Given the description of an element on the screen output the (x, y) to click on. 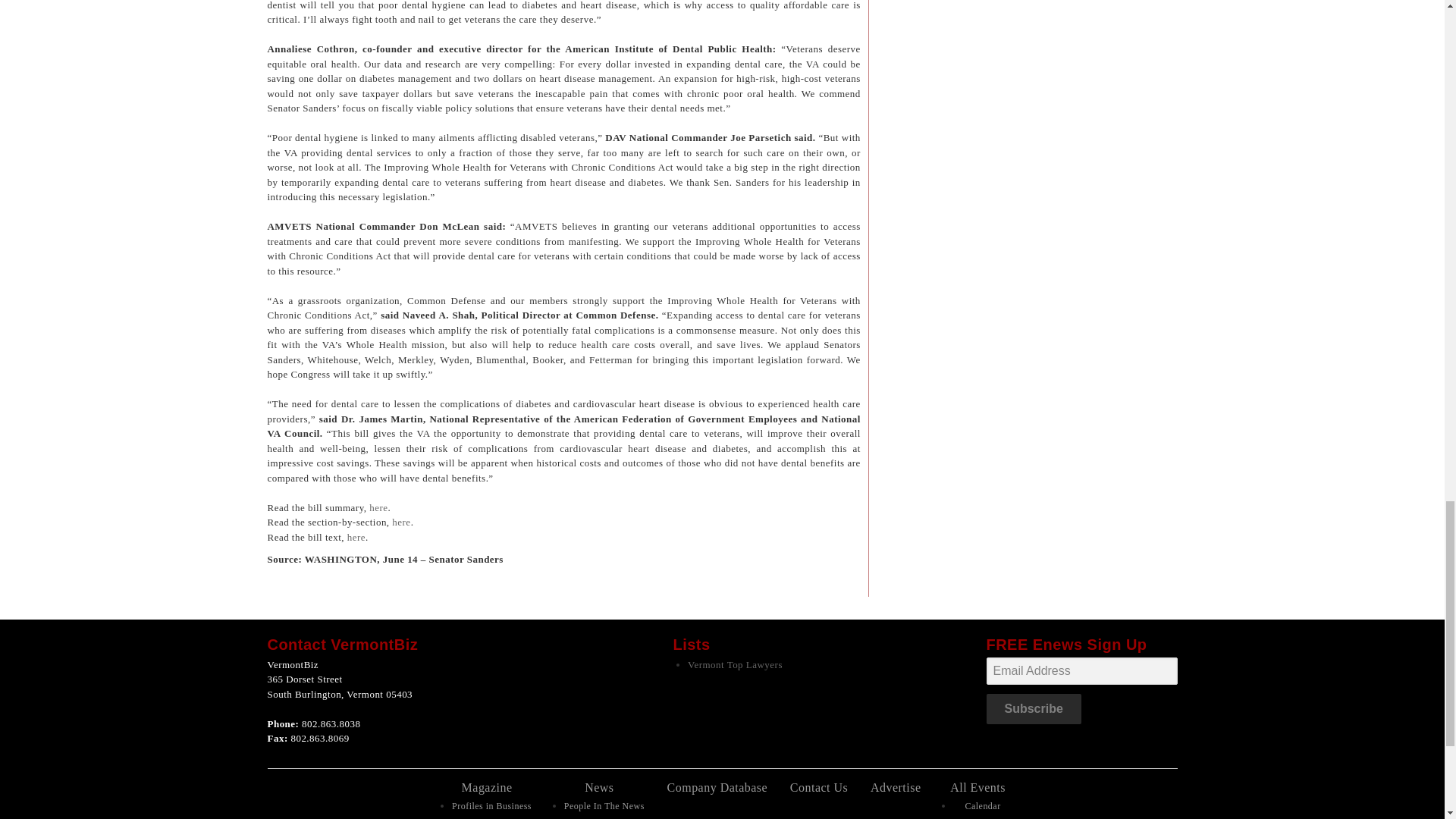
Profiles in Business (491, 805)
Magazine (486, 787)
here (400, 521)
here (378, 507)
Company Database (717, 787)
here (356, 536)
Giving Guide (491, 818)
Subscribe (1032, 708)
Vermont Top Lawyers (735, 664)
All Events (978, 787)
Contact Us (818, 787)
Subscribe (1032, 708)
People In The News (604, 805)
Advertise (895, 787)
News (598, 787)
